Given the description of an element on the screen output the (x, y) to click on. 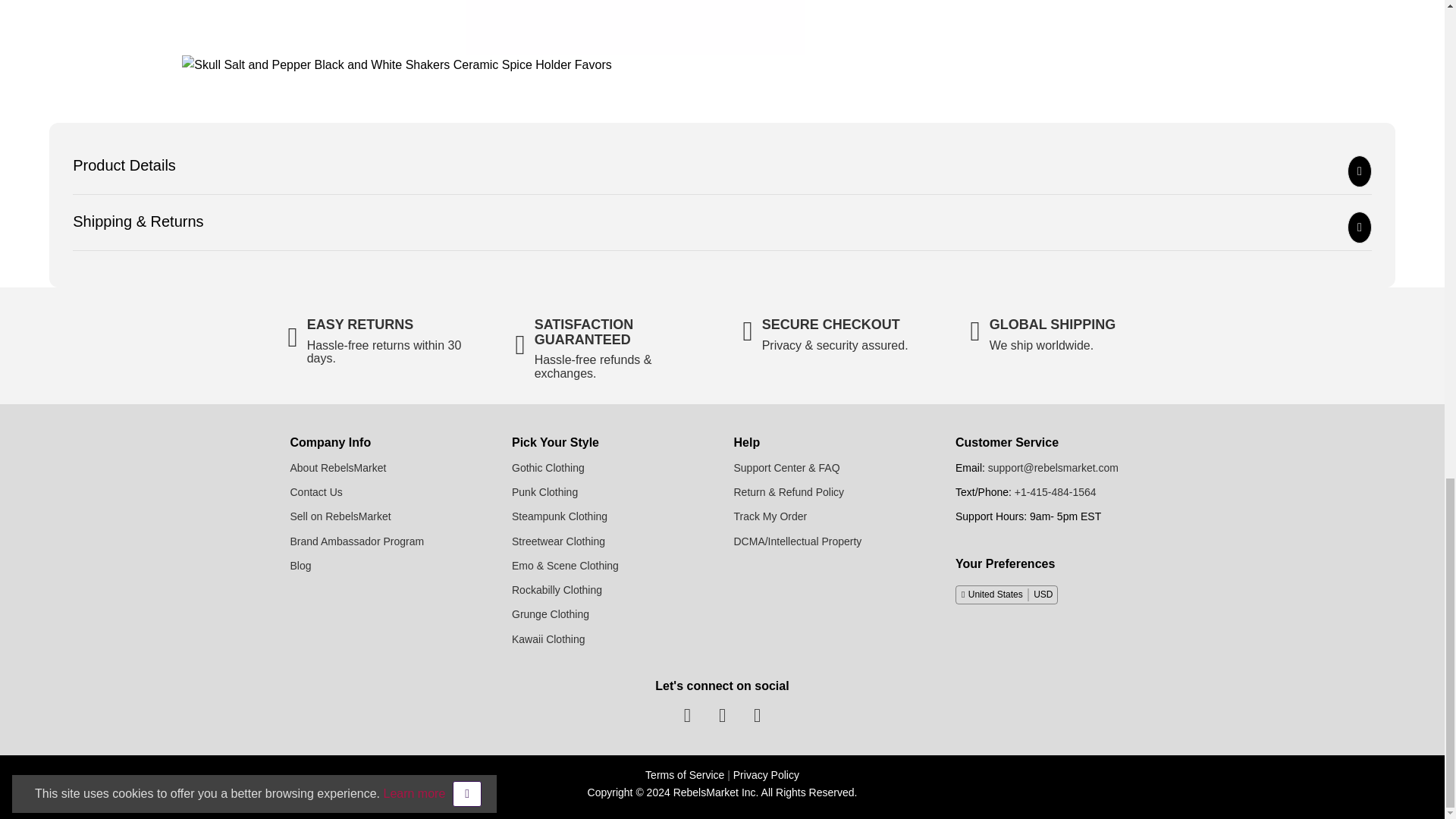
instagram (757, 714)
About Us  (337, 467)
pinterest (722, 714)
Contact Us (315, 491)
facebook (687, 714)
